Given the description of an element on the screen output the (x, y) to click on. 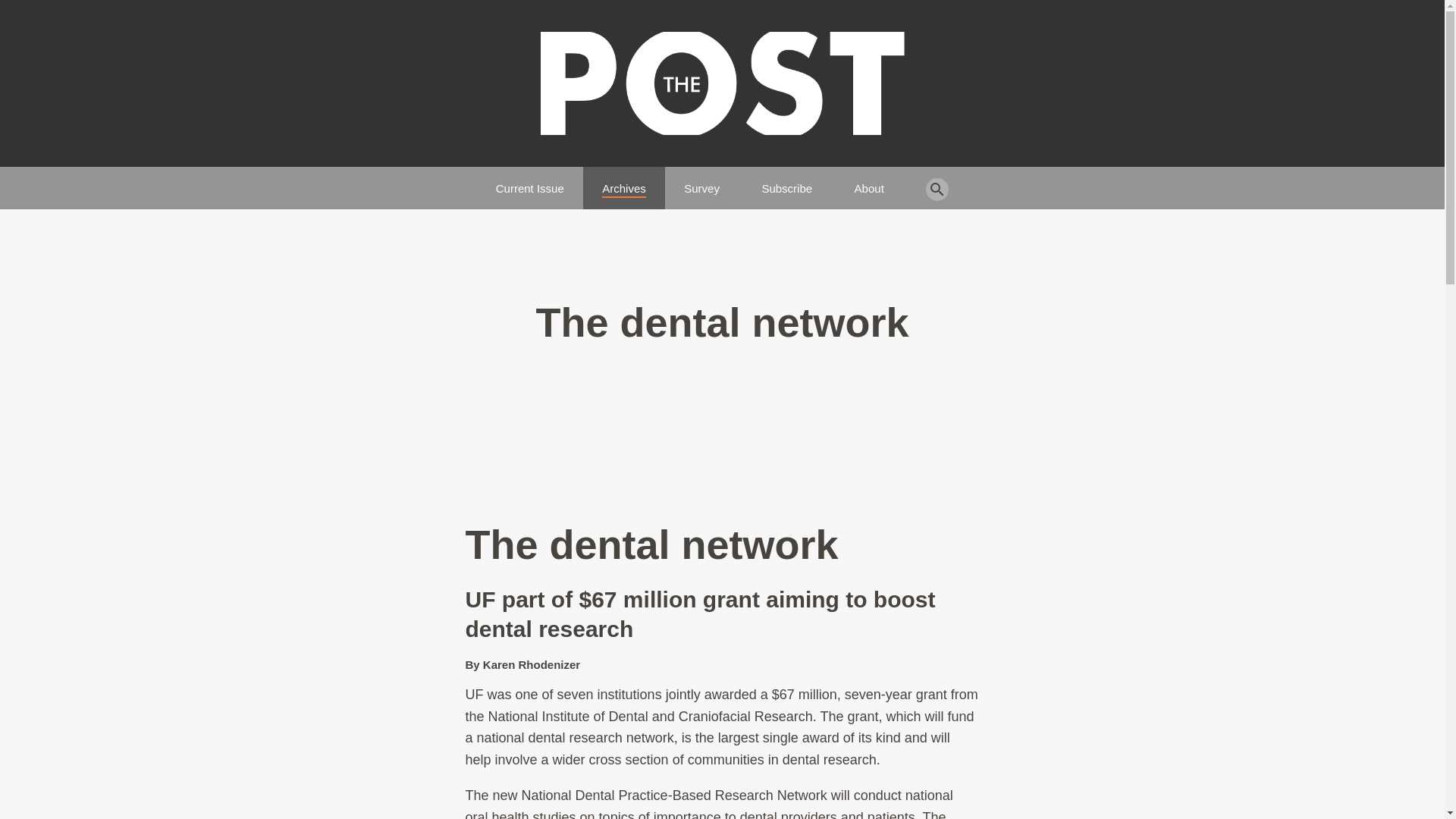
The POST - Home (722, 83)
Subscribe (786, 182)
Archives (624, 182)
Survey (701, 182)
Current Issue (530, 182)
About (868, 182)
